Given the description of an element on the screen output the (x, y) to click on. 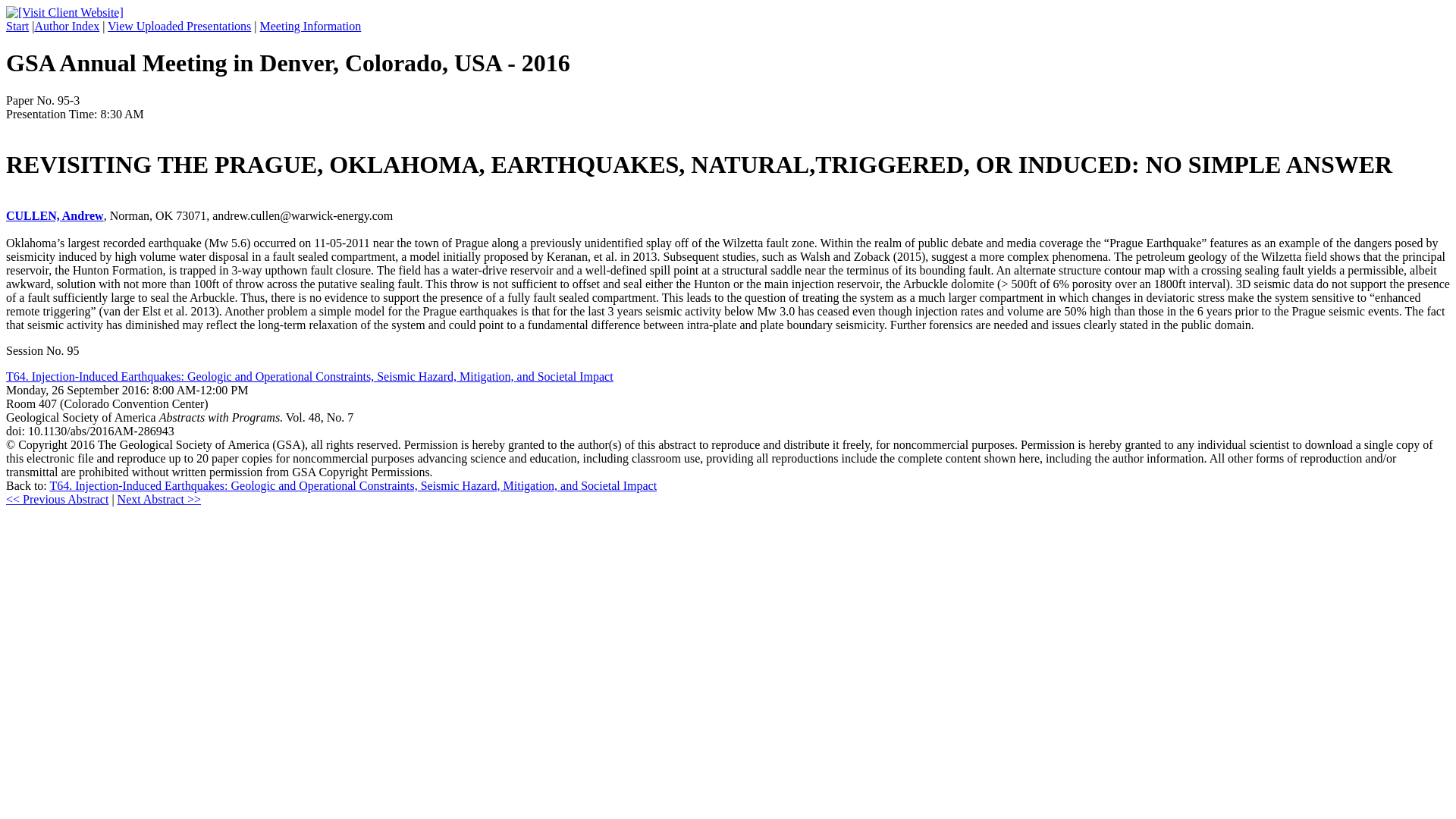
Author Index (66, 25)
View Uploaded Presentations (178, 25)
Meeting Information (310, 25)
CULLEN, Andrew (54, 215)
Start (17, 25)
